Given the description of an element on the screen output the (x, y) to click on. 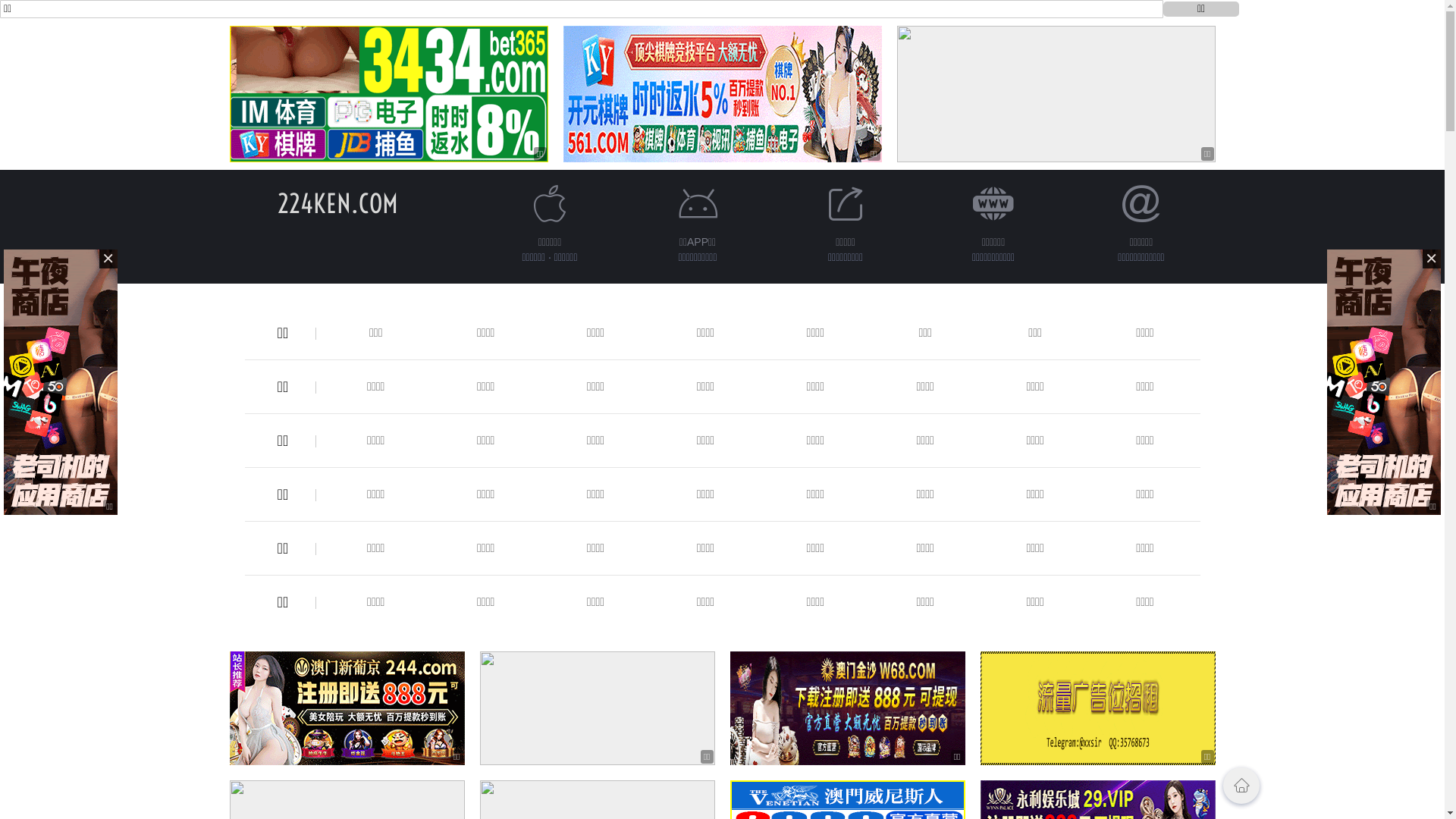
224KEN.COM Element type: text (337, 203)
